Given the description of an element on the screen output the (x, y) to click on. 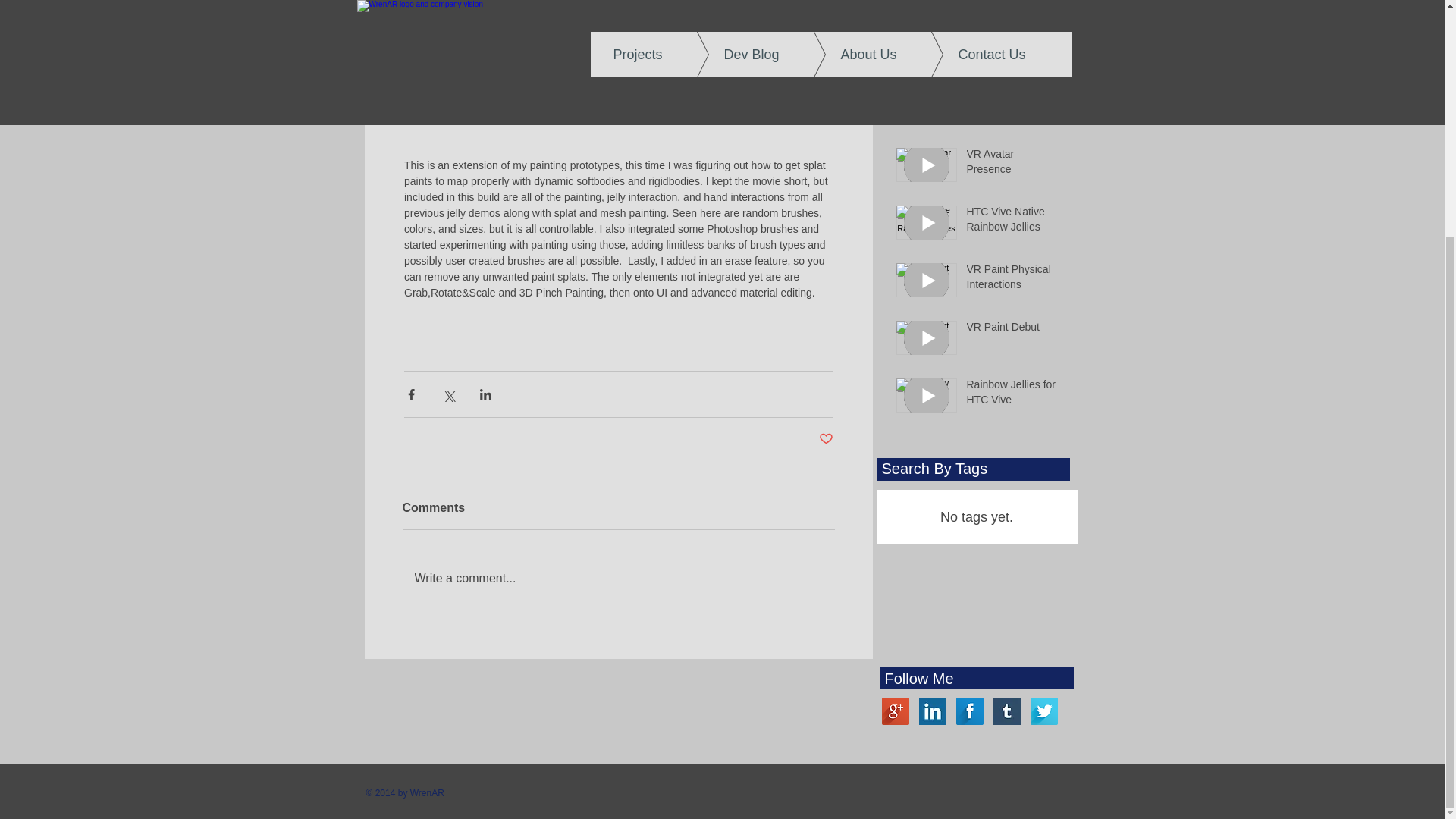
Oculus Touch and LEAP Motion (1012, 4)
VR Paint Debut (1012, 330)
Rainbow Jellies for HTC Vive (1012, 395)
HTC Vive Native Rainbow Jellies (1012, 222)
Post not marked as liked (825, 439)
Wren's Quality Kicks (1012, 107)
Write a comment... (617, 578)
VR Avatar Presence (1012, 164)
VR Football (1012, 42)
VR Paint Physical Interactions (1012, 280)
